Given the description of an element on the screen output the (x, y) to click on. 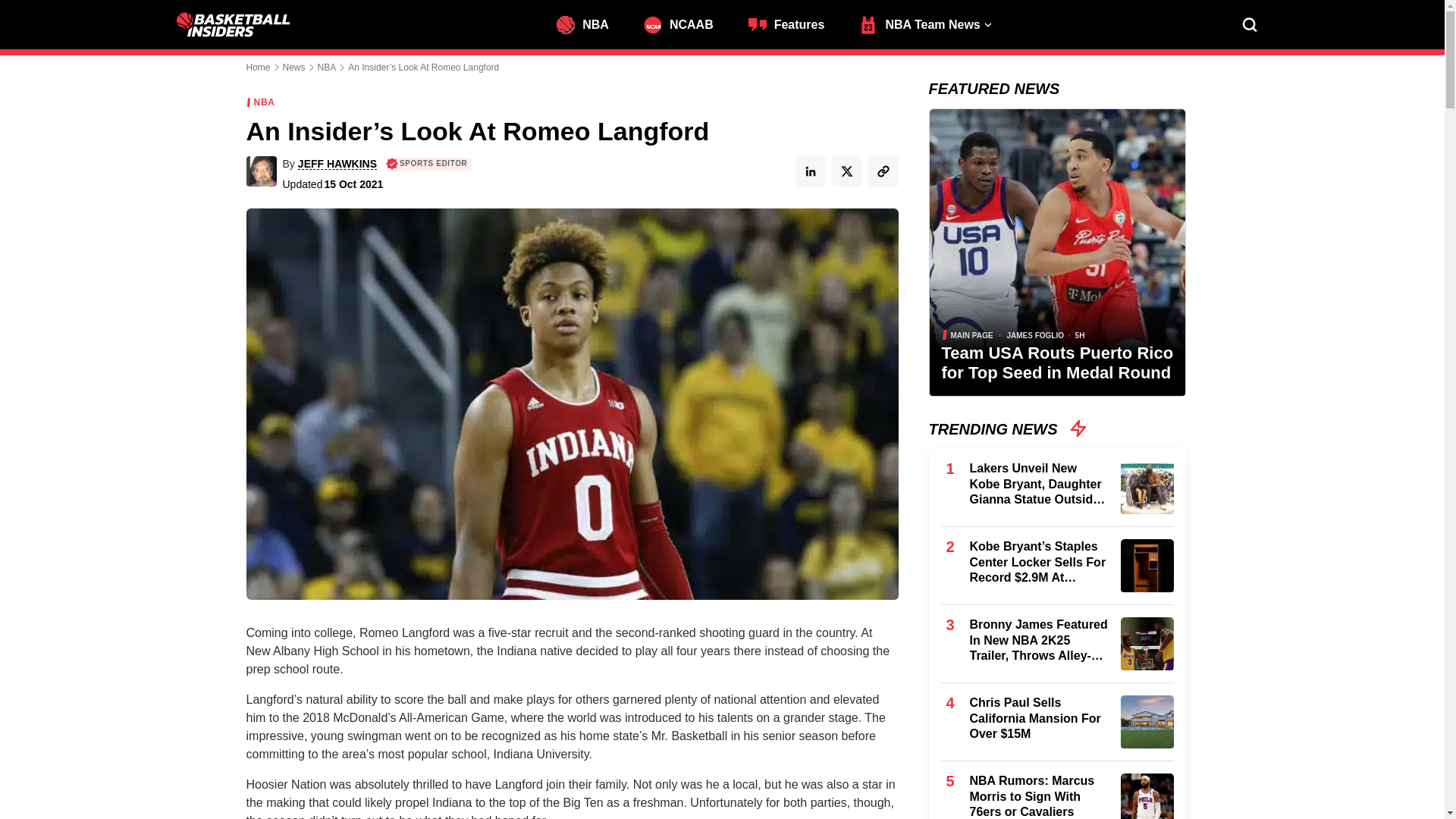
NCAAB (685, 22)
NBA Team News (926, 22)
Features (793, 22)
NBA (589, 22)
